Given the description of an element on the screen output the (x, y) to click on. 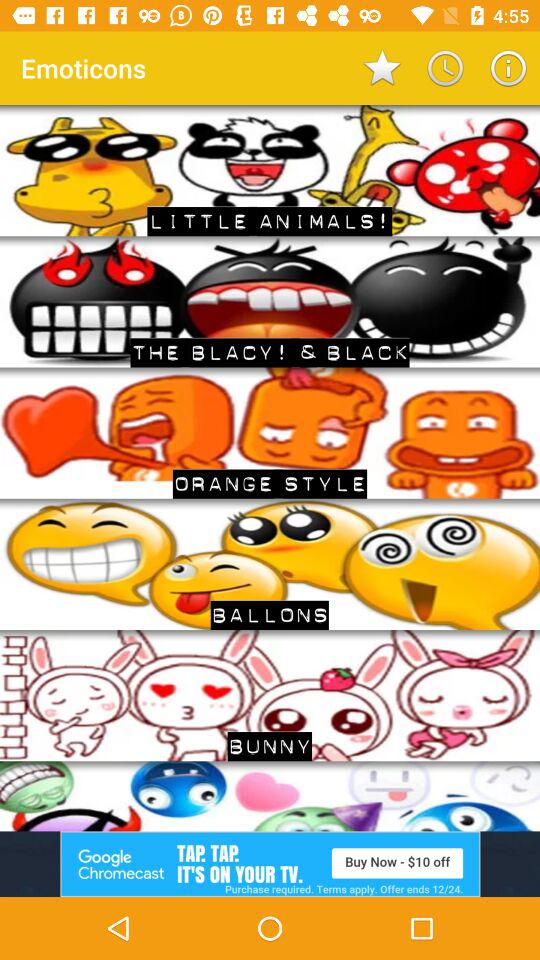
advertisement (270, 864)
